Given the description of an element on the screen output the (x, y) to click on. 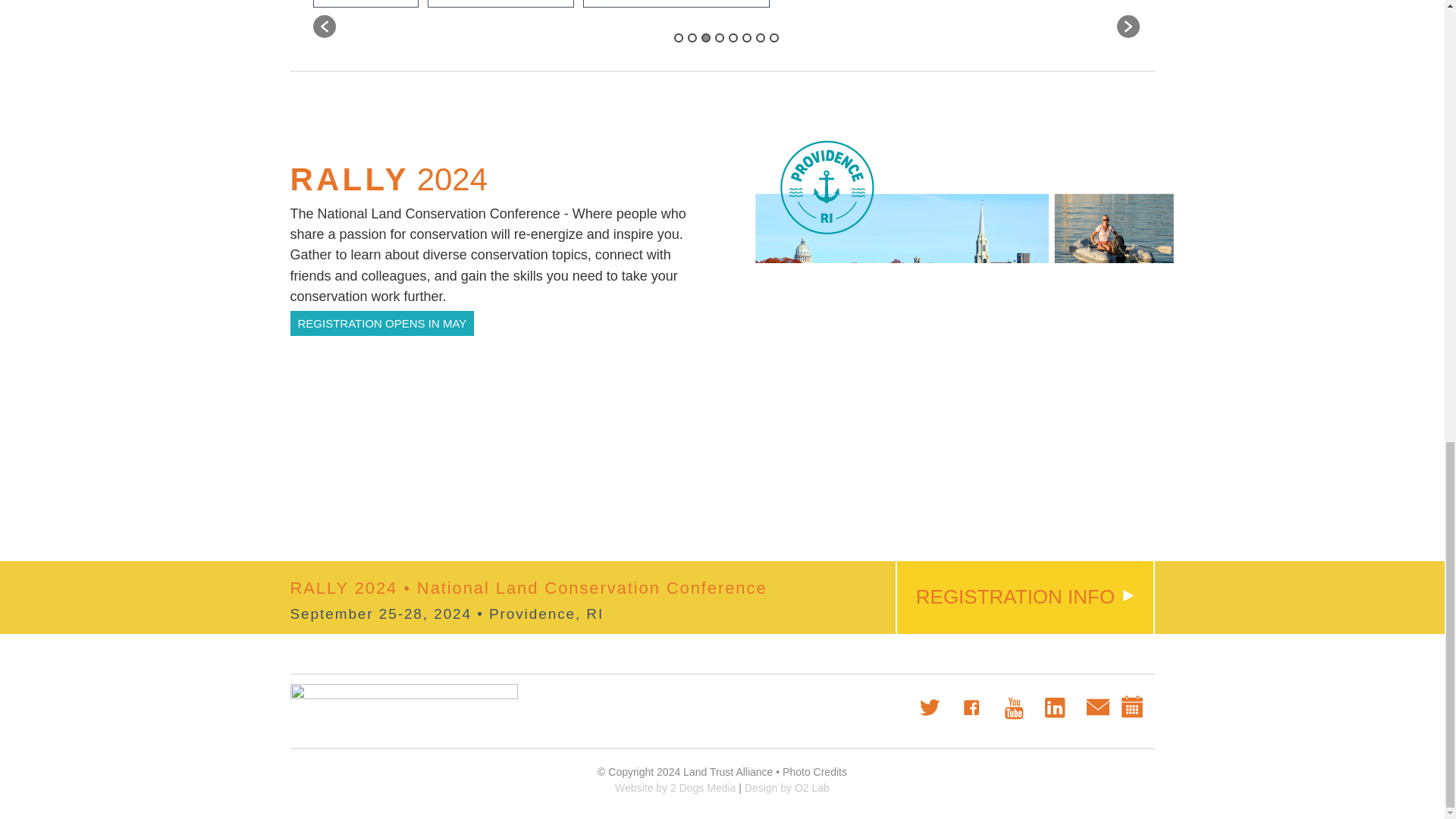
THANK YOU 2024 SPONSORS   (676, 3)
O2 Lab (786, 787)
LEARN MORE  (365, 3)
BECOME A SPONSOR   (500, 3)
